Given the description of an element on the screen output the (x, y) to click on. 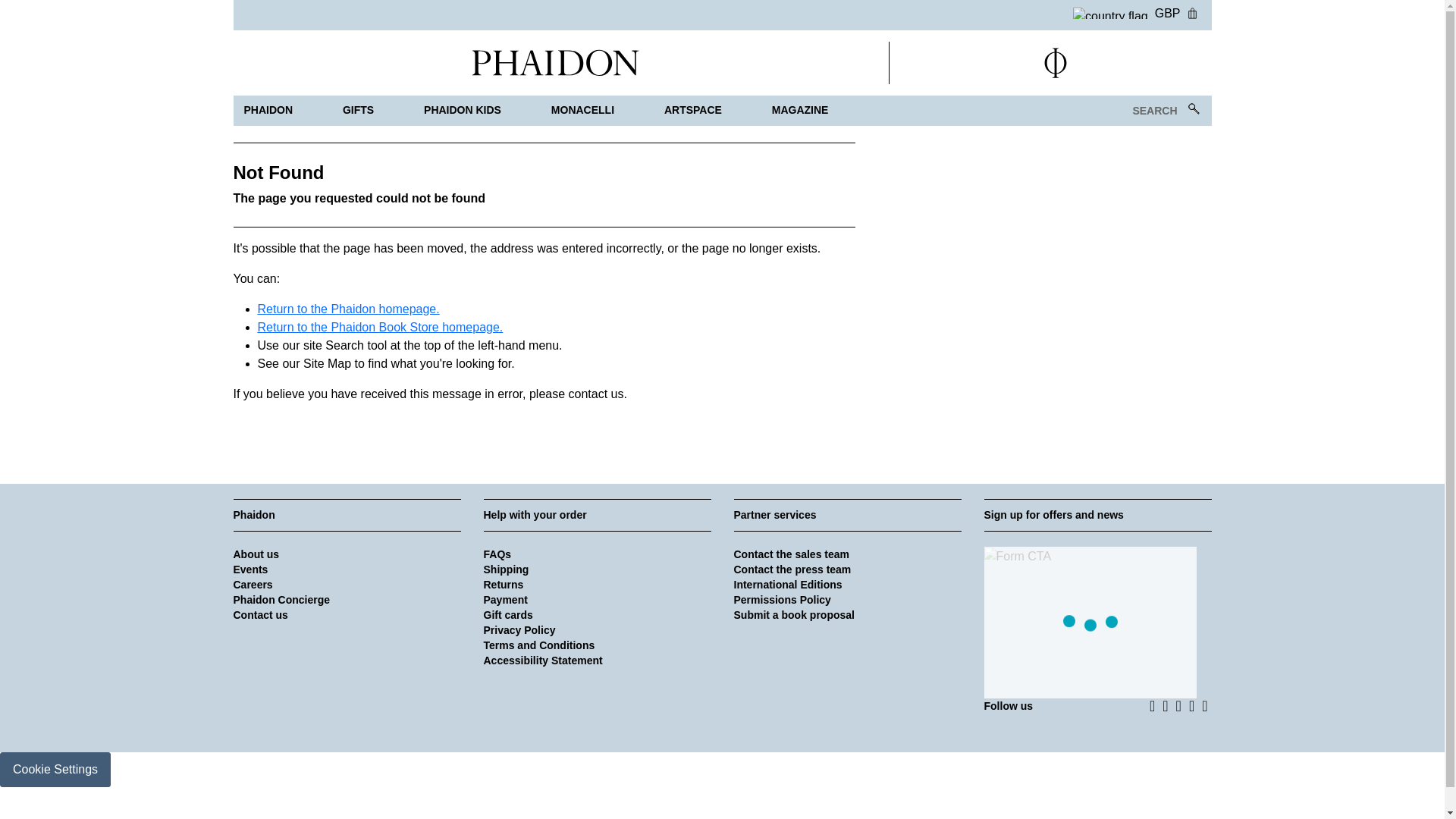
GBP (1126, 11)
MONACELLI (582, 110)
GIFTS (358, 110)
PHAIDON KIDS (462, 110)
PHAIDON (268, 110)
